Given the description of an element on the screen output the (x, y) to click on. 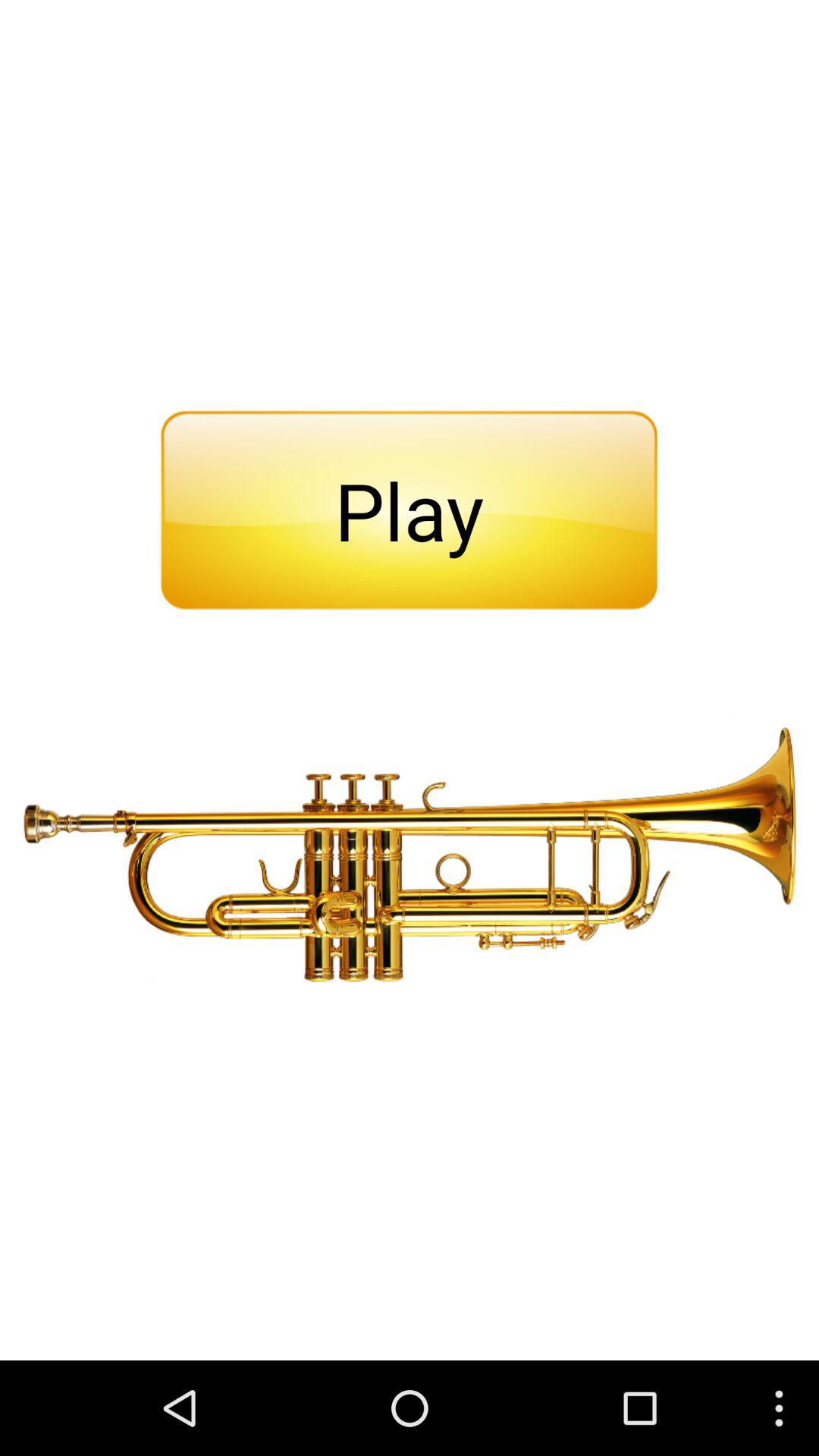
select the play item (409, 509)
